Given the description of an element on the screen output the (x, y) to click on. 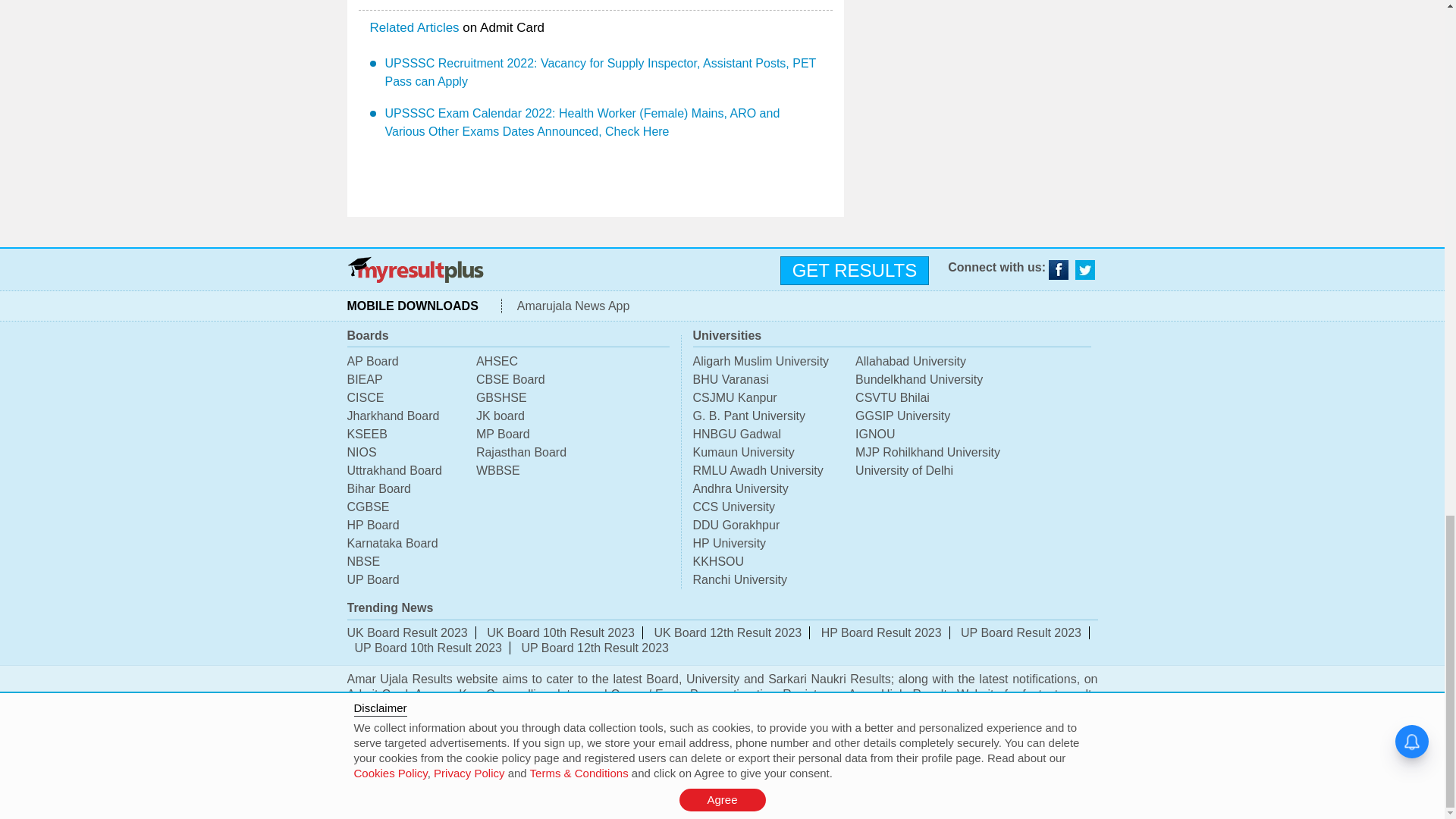
UK Board 12th Result 2023 (727, 632)
UP Board 12th Result 2023 (594, 647)
UP Board 10th Result 2023 (428, 647)
UK Board 10th Result 2023 (560, 632)
UK Board Result 2023 (407, 632)
UP Board Result 2023 (1020, 632)
HP Board Result 2023 (881, 632)
Delete All Cookies (872, 792)
